Given the description of an element on the screen output the (x, y) to click on. 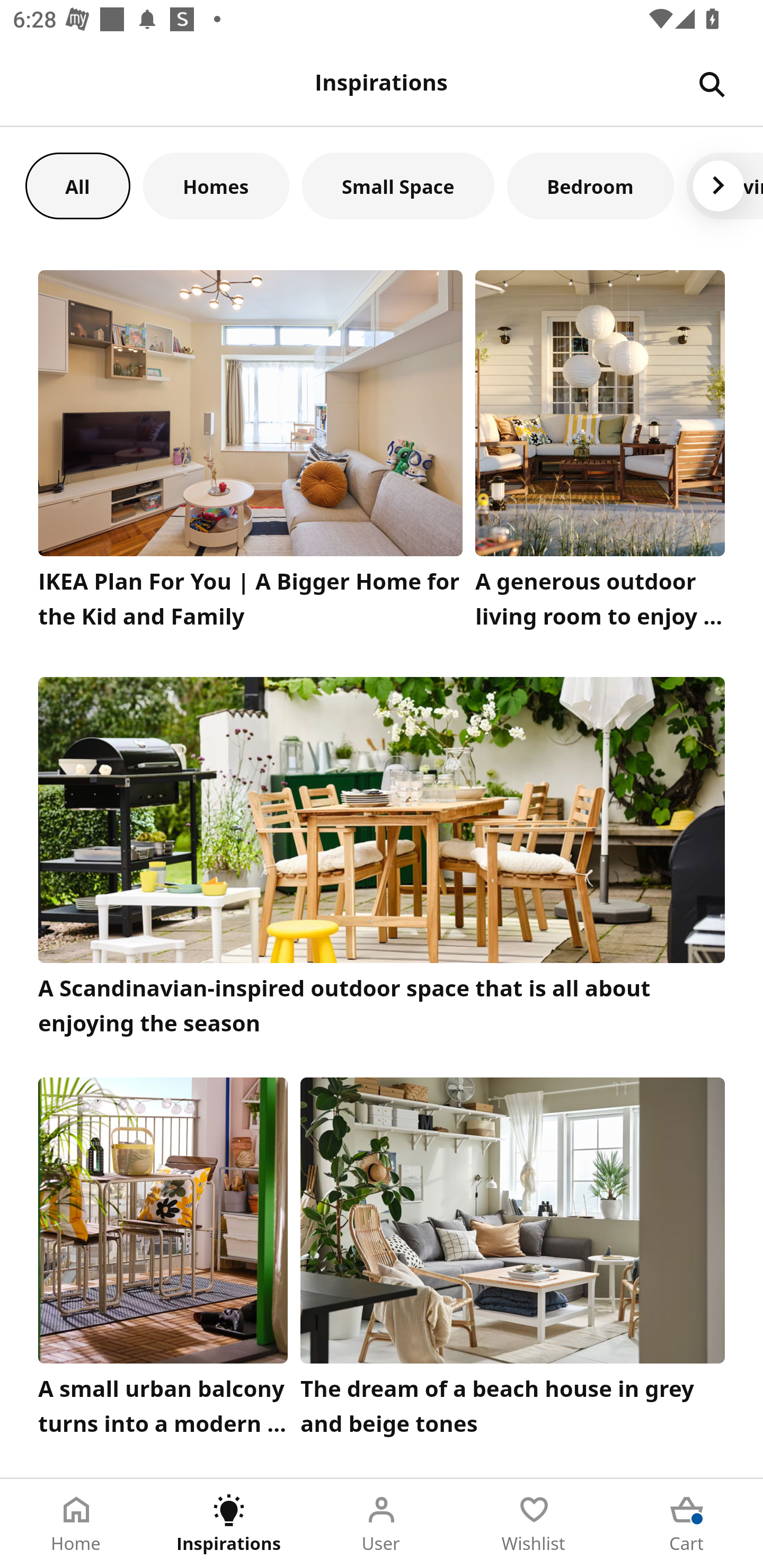
All (77, 185)
Homes (216, 185)
Small Space (398, 185)
Bedroom (590, 185)
The dream of a beach house in grey and beige tones (512, 1261)
Home
Tab 1 of 5 (76, 1522)
Inspirations
Tab 2 of 5 (228, 1522)
User
Tab 3 of 5 (381, 1522)
Wishlist
Tab 4 of 5 (533, 1522)
Cart
Tab 5 of 5 (686, 1522)
